Given the description of an element on the screen output the (x, y) to click on. 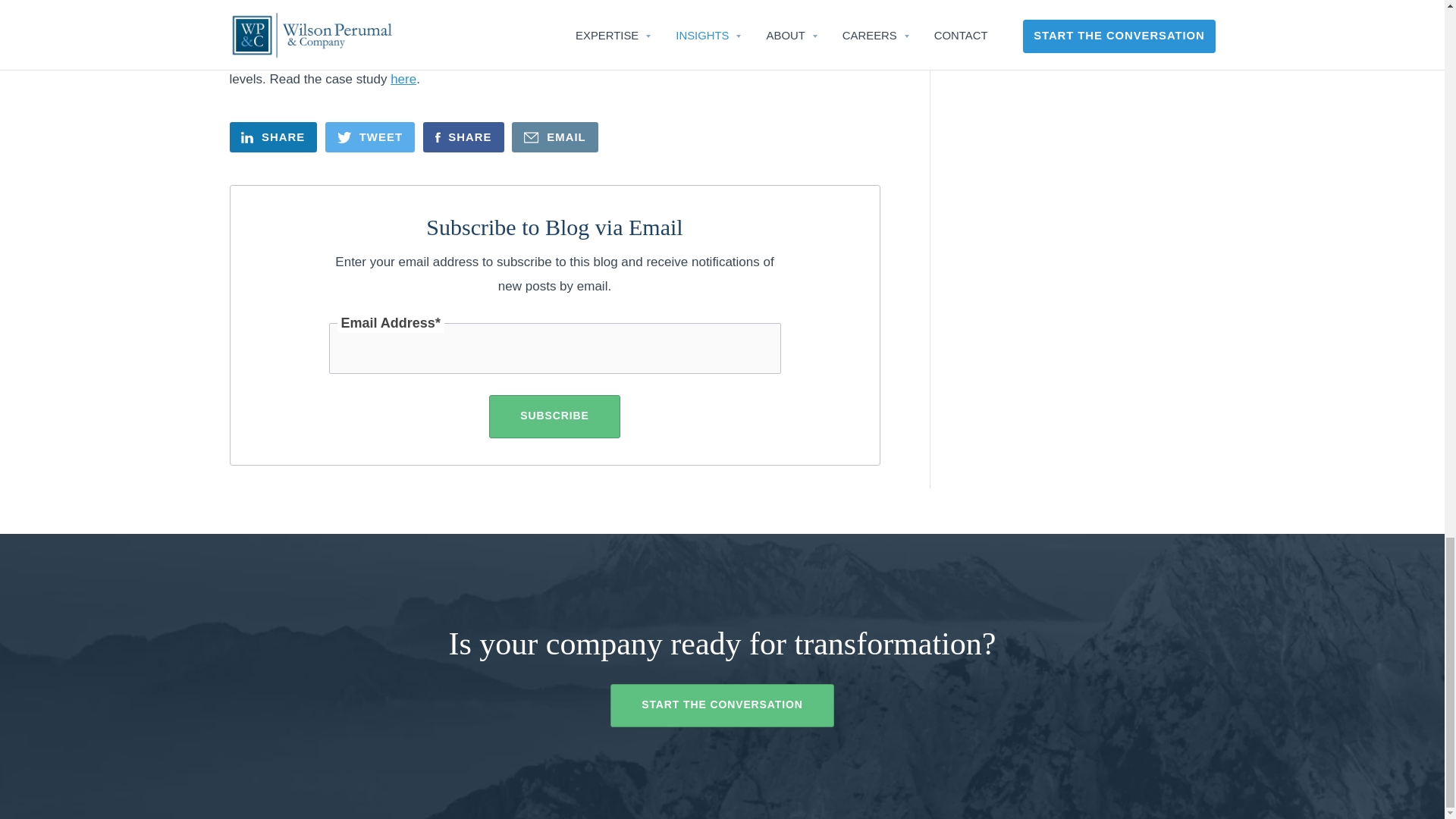
Share on LinkedIn (272, 137)
Share on Facebook (463, 137)
Tweet on Twitter (369, 137)
Subscribe (554, 416)
Email (555, 137)
